Given the description of an element on the screen output the (x, y) to click on. 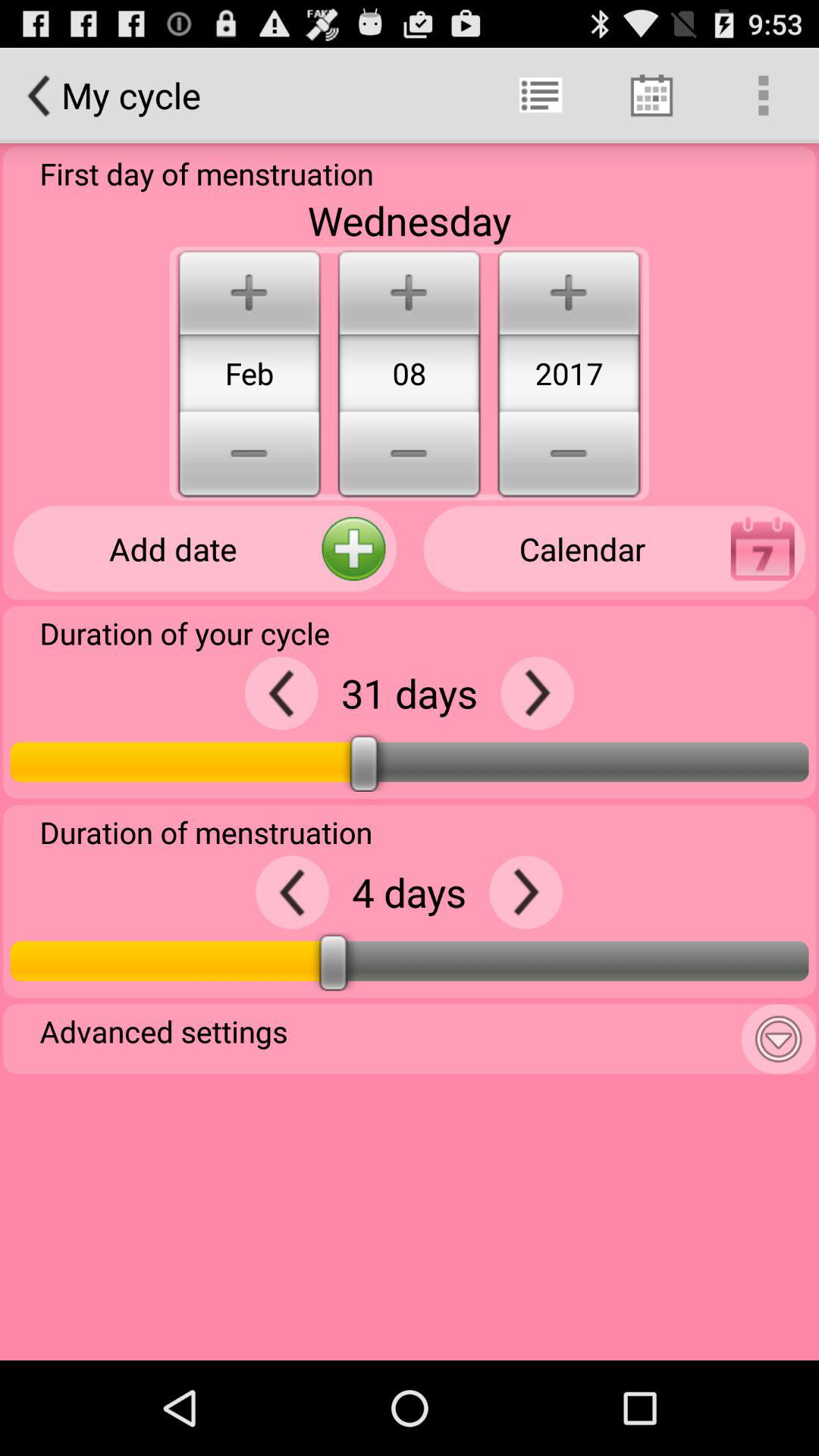
add days to duration of your cycle (537, 693)
